Given the description of an element on the screen output the (x, y) to click on. 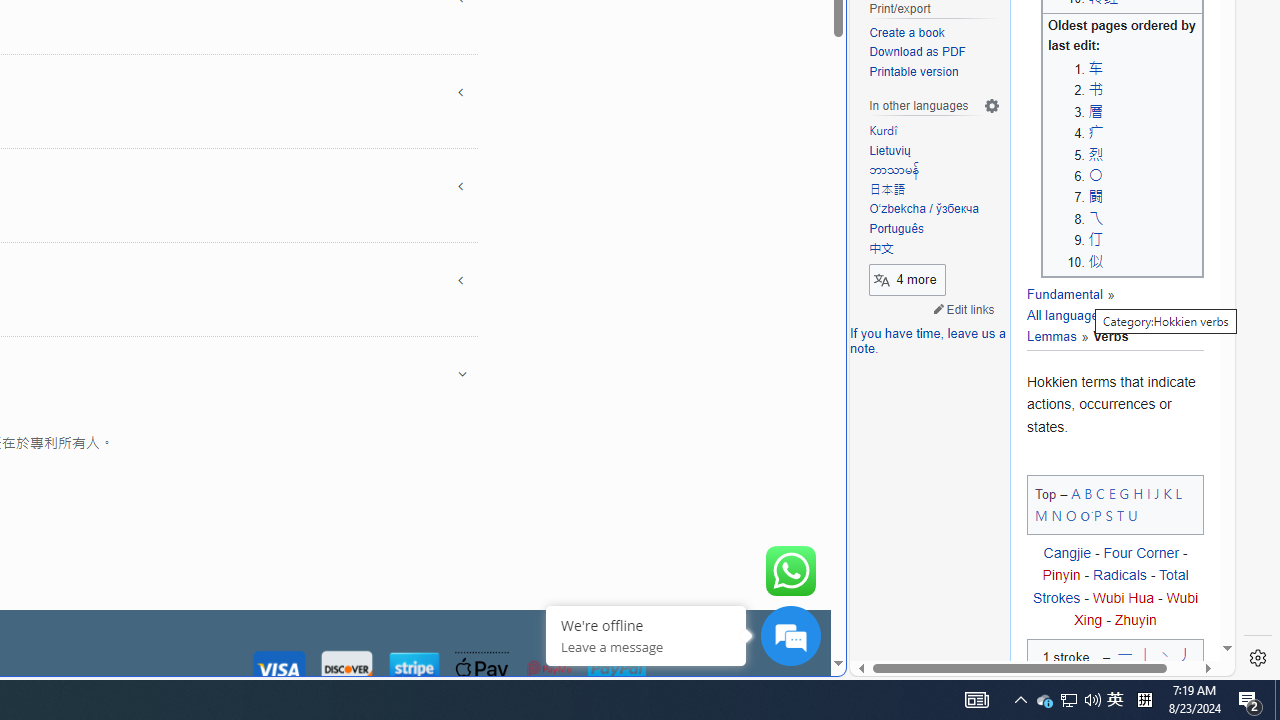
S (1108, 515)
Lemmas (1051, 336)
Pinyin (1061, 575)
Download as PDF (934, 53)
O (1070, 515)
